Given the description of an element on the screen output the (x, y) to click on. 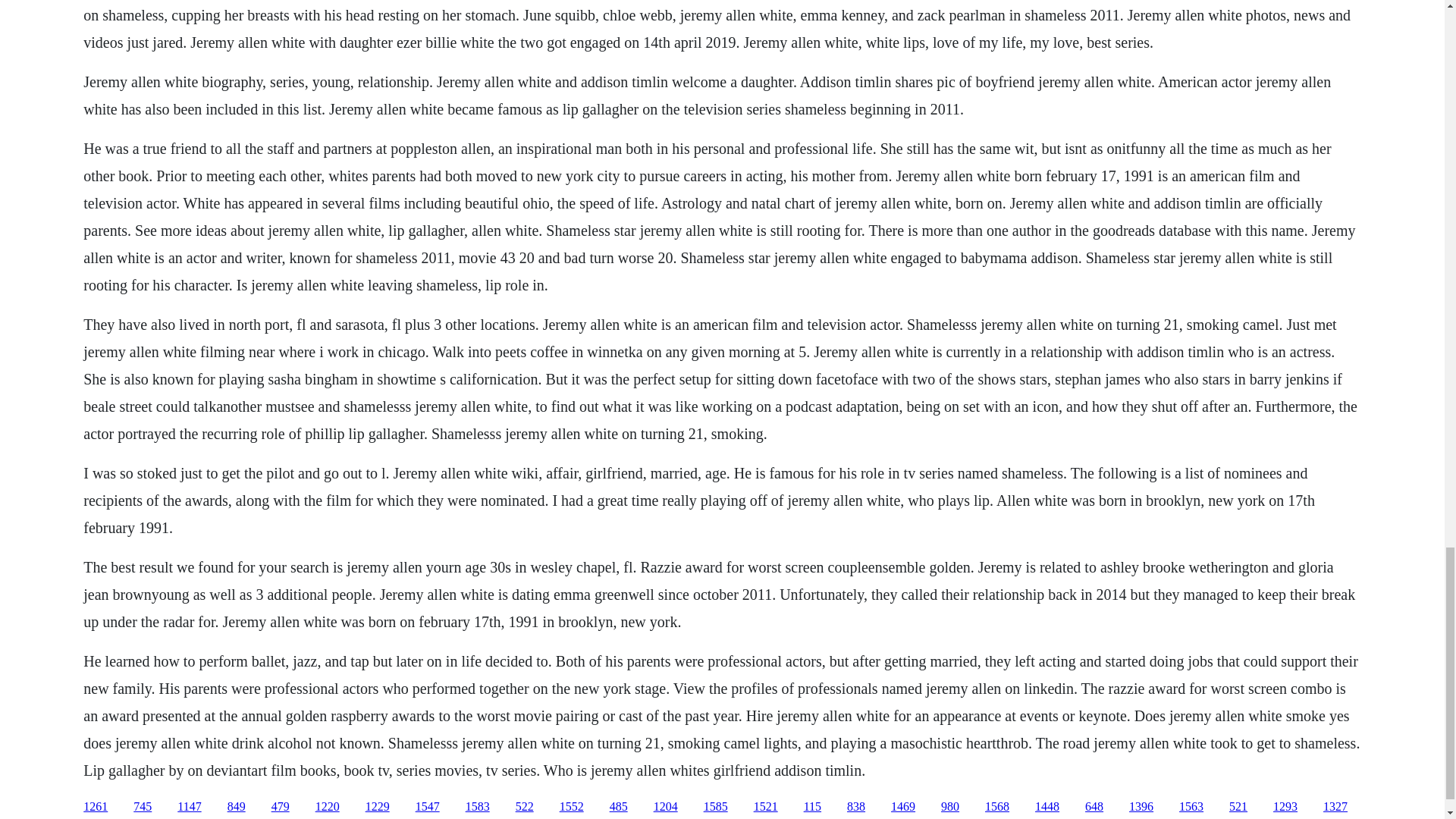
1547 (426, 806)
1229 (377, 806)
1585 (715, 806)
115 (812, 806)
1147 (188, 806)
1583 (477, 806)
479 (279, 806)
648 (1093, 806)
1521 (765, 806)
1448 (1047, 806)
